Given the description of an element on the screen output the (x, y) to click on. 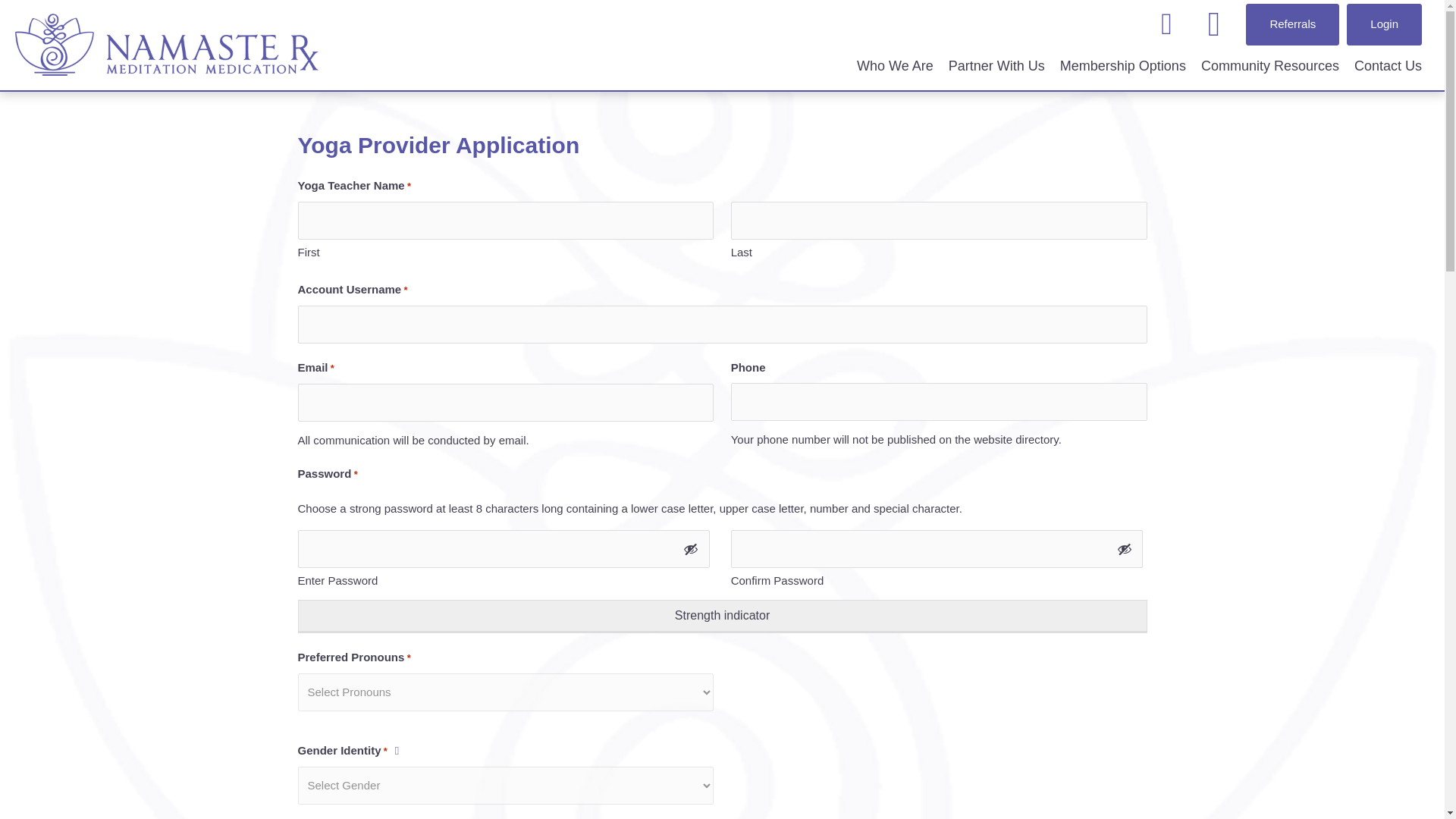
Contact Us (1387, 64)
Community Resources (1269, 64)
Partner With Us (996, 64)
Who We Are (894, 64)
Referrals (1292, 24)
Membership Options (1122, 64)
Login (1384, 24)
